Given the description of an element on the screen output the (x, y) to click on. 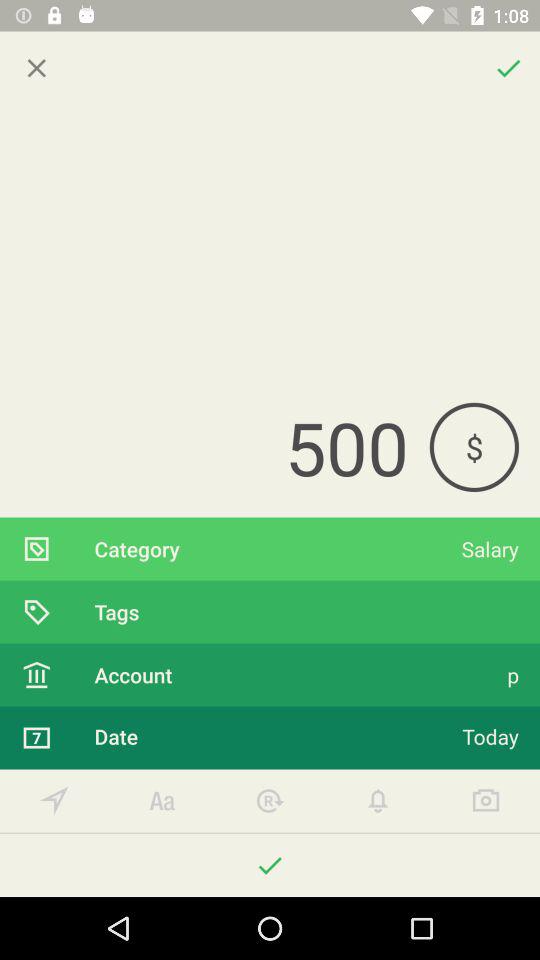
close window (36, 68)
